Given the description of an element on the screen output the (x, y) to click on. 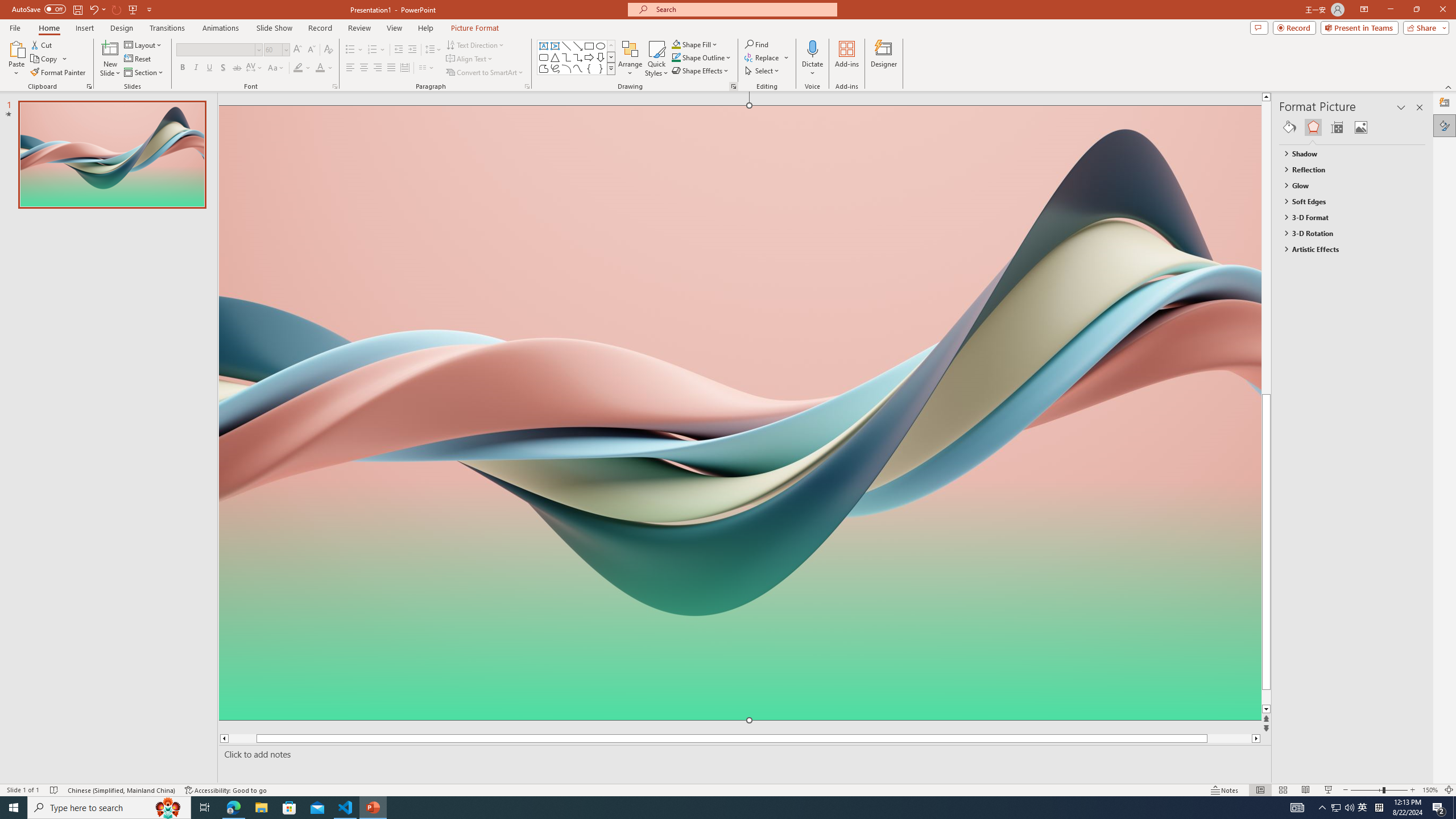
Fill & Line (1288, 126)
Picture Format (475, 28)
Glow (1347, 185)
